Given the description of an element on the screen output the (x, y) to click on. 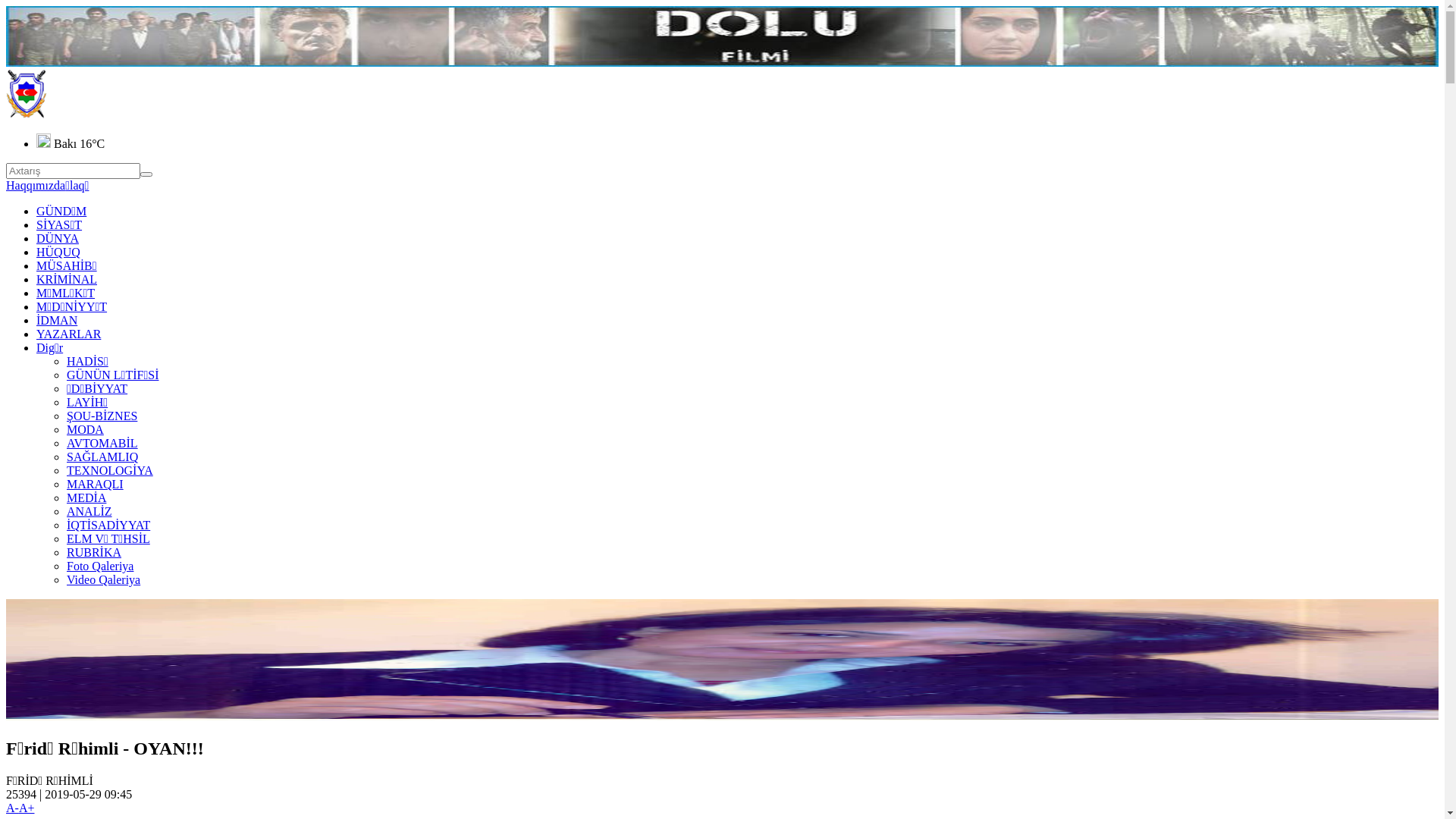
Video Qaleriya Element type: text (103, 579)
A+ Element type: text (26, 807)
MODA Element type: text (84, 429)
MARAQLI Element type: text (94, 483)
A- Element type: text (12, 807)
Foto Qaleriya Element type: text (99, 565)
YAZARLAR Element type: text (68, 333)
